Given the description of an element on the screen output the (x, y) to click on. 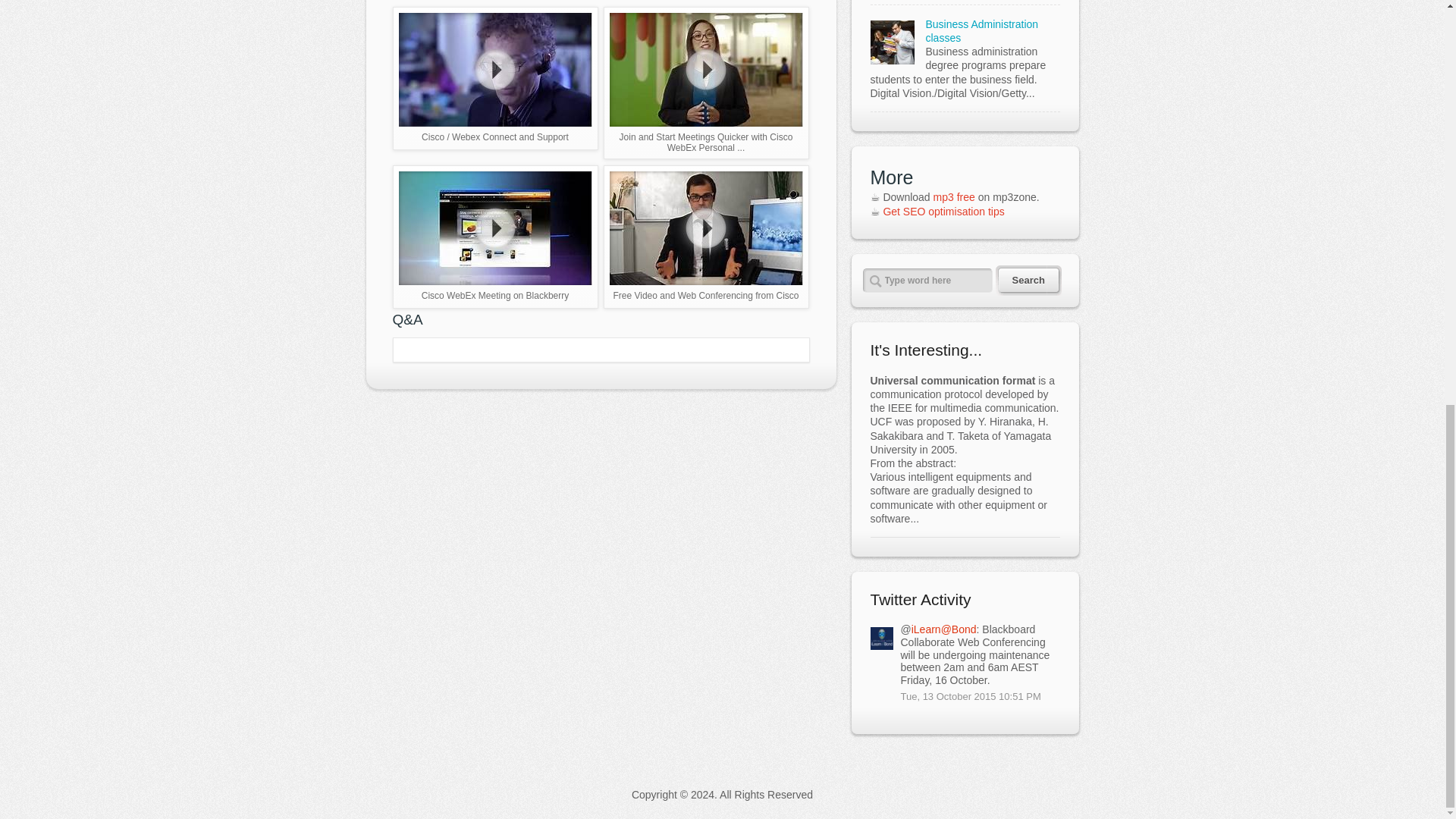
Type word here (927, 280)
Business Administration classes (981, 31)
View this video from YouTube (706, 82)
mp3 free (954, 196)
Get SEO optimisation tips (943, 211)
View this video from YouTube (706, 236)
View this video from YouTube (495, 236)
View this video from YouTube (495, 77)
Search (1019, 280)
Search (1019, 280)
